Given the description of an element on the screen output the (x, y) to click on. 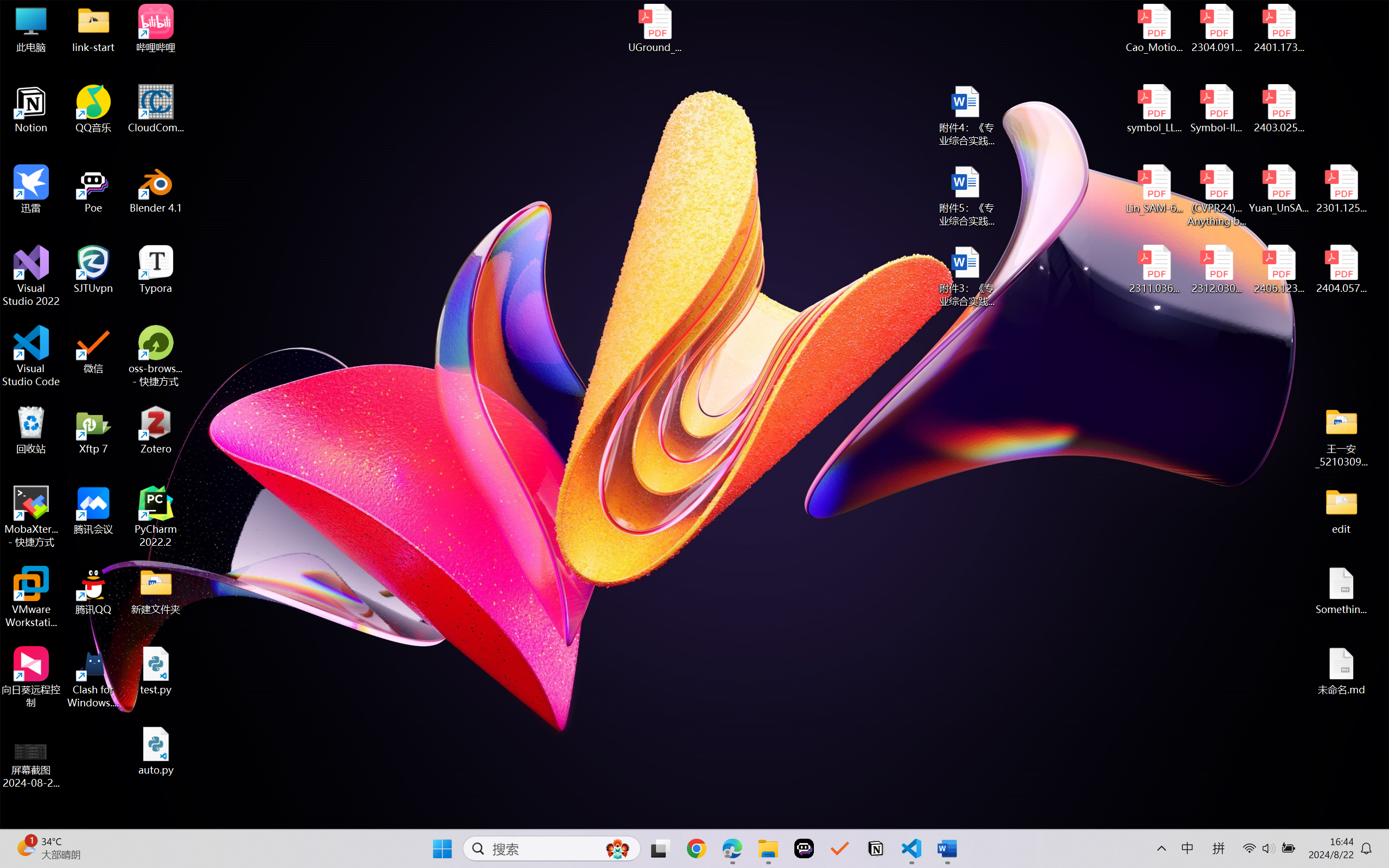
Blender 4.1 (156, 189)
2401.17399v1.pdf (1278, 28)
Visual Studio 2022 (31, 276)
Typora (156, 269)
2304.09121v3.pdf (1216, 28)
(CVPR24)Matching Anything by Segmenting Anything.pdf (1216, 195)
Something.md (1340, 591)
